Given the description of an element on the screen output the (x, y) to click on. 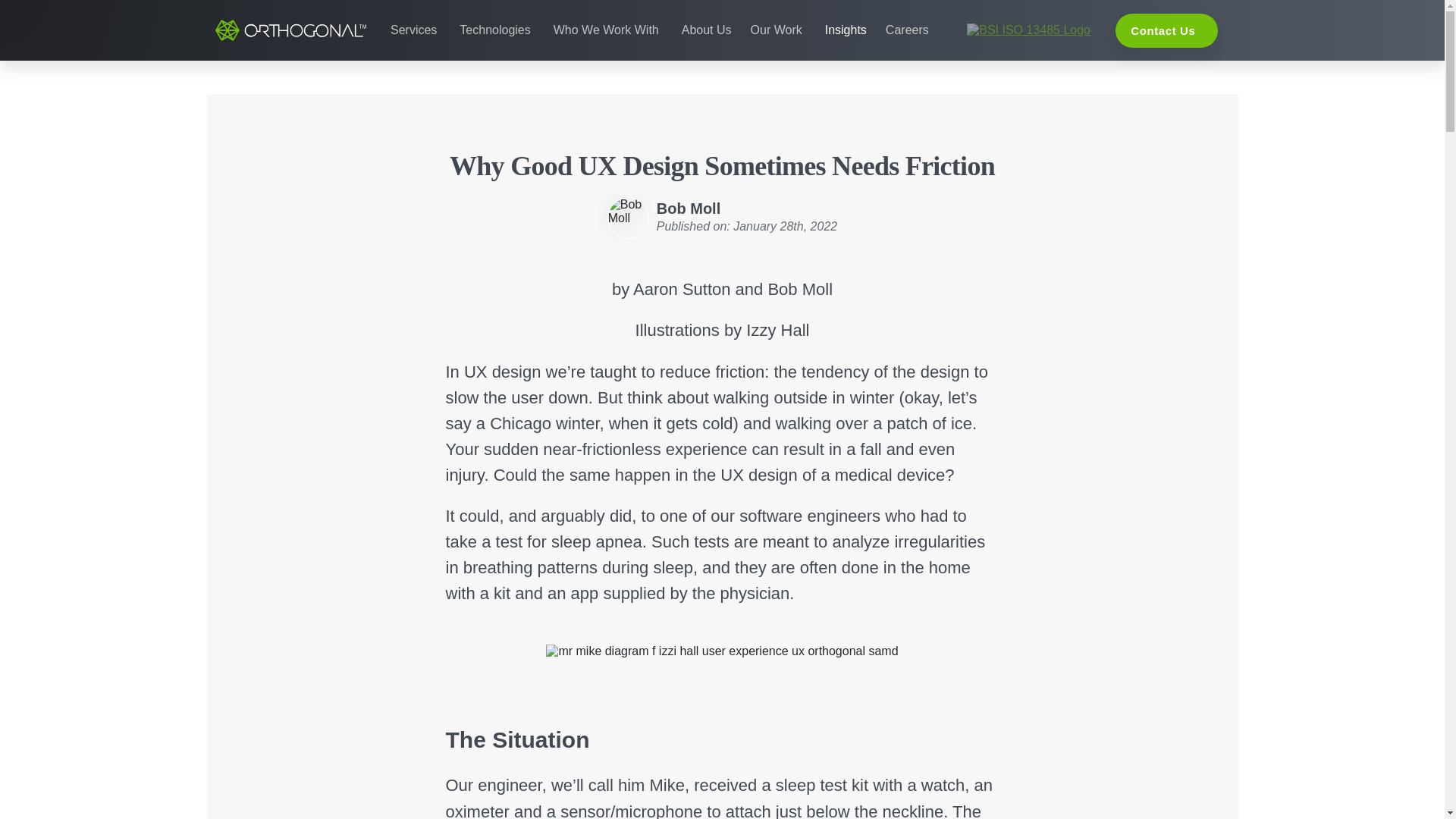
Technologies (492, 29)
Our Work (776, 29)
Who We Work With (604, 29)
About Us (705, 29)
Services (411, 29)
Insights (843, 29)
